Given the description of an element on the screen output the (x, y) to click on. 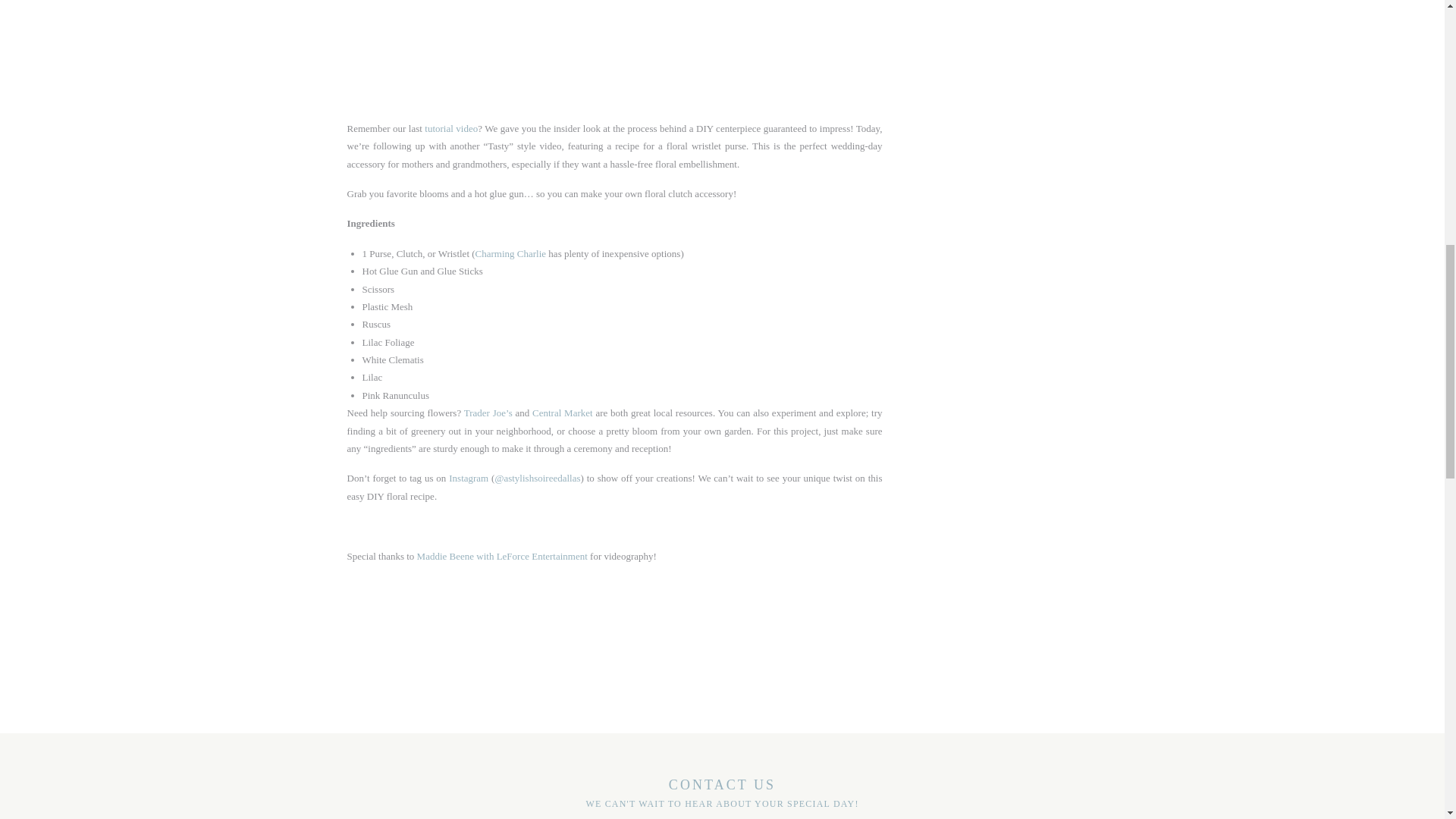
Charming Charlie (511, 253)
Central Market (562, 412)
Instagram (467, 478)
tutorial video (449, 128)
Maddie Beene with LeForce Entertainment (502, 555)
oooh... Stylish! Floral Wristlet Purse (711, 36)
